Given the description of an element on the screen output the (x, y) to click on. 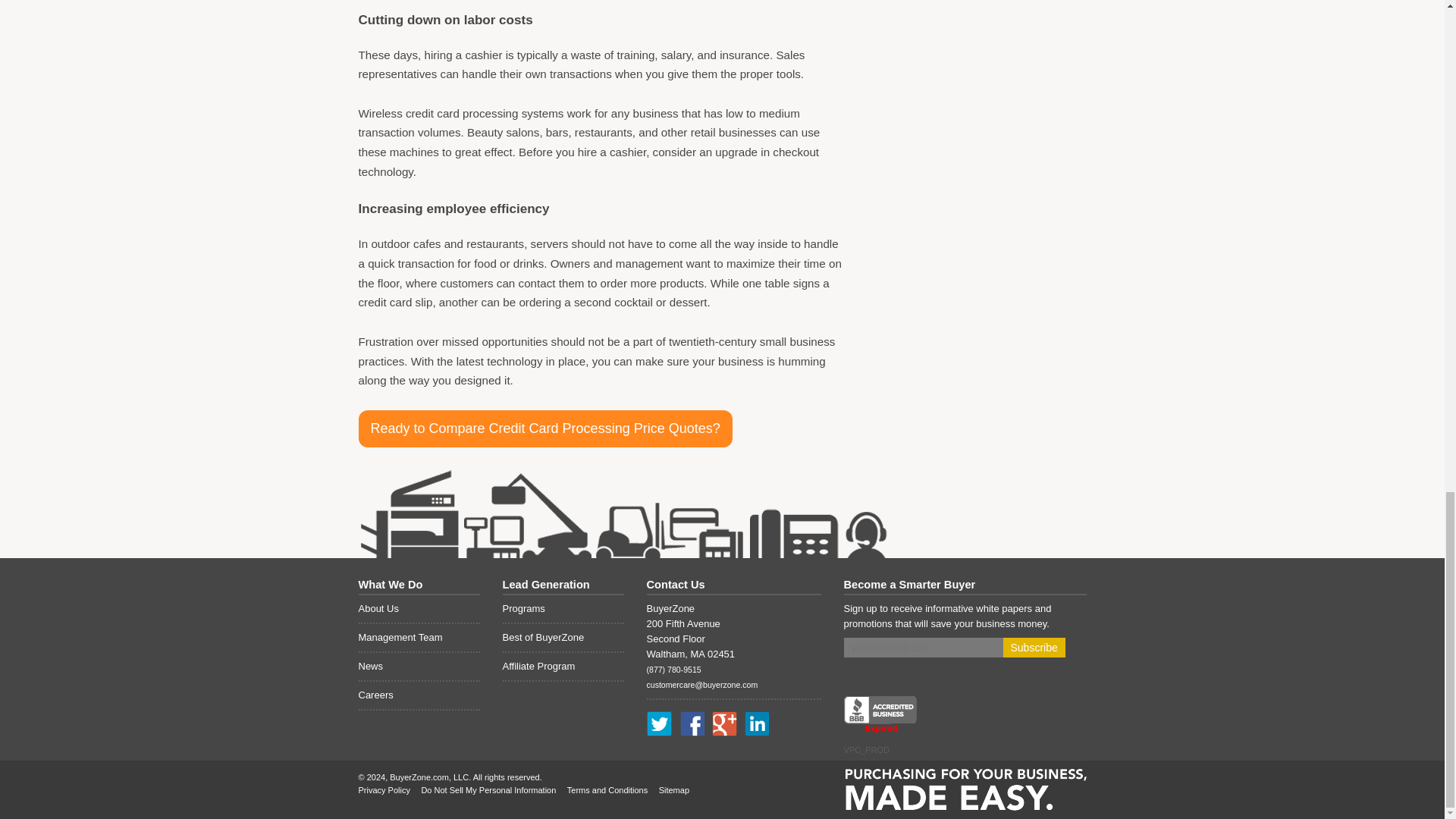
Management Team (418, 638)
Subscribe (1033, 647)
BuyerZone.com, LLC BBB Business Review (879, 715)
Ready to Compare Credit Card Processing Price Quotes? (545, 428)
TRUSTe online privacy certification (967, 711)
About Us (418, 609)
